Given the description of an element on the screen output the (x, y) to click on. 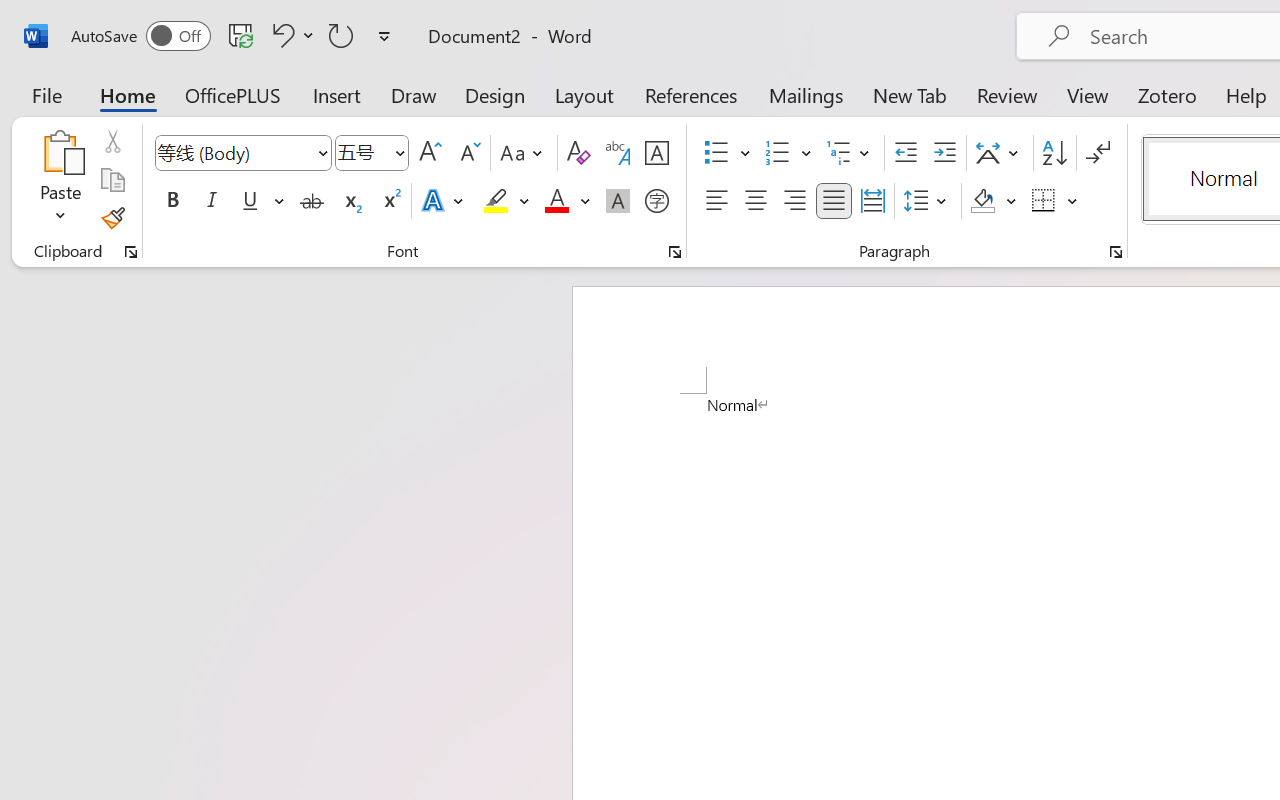
Zotero (1166, 94)
Paste (60, 179)
Phonetic Guide... (618, 153)
OfficePLUS (233, 94)
Undo Apply Quick Style (280, 35)
Clear Formatting (578, 153)
Increase Indent (944, 153)
Multilevel List (850, 153)
Bullets (716, 153)
Subscript (350, 201)
Quick Access Toolbar (233, 36)
Open (399, 152)
Align Left (716, 201)
Copy (112, 179)
Numbering (778, 153)
